Given the description of an element on the screen output the (x, y) to click on. 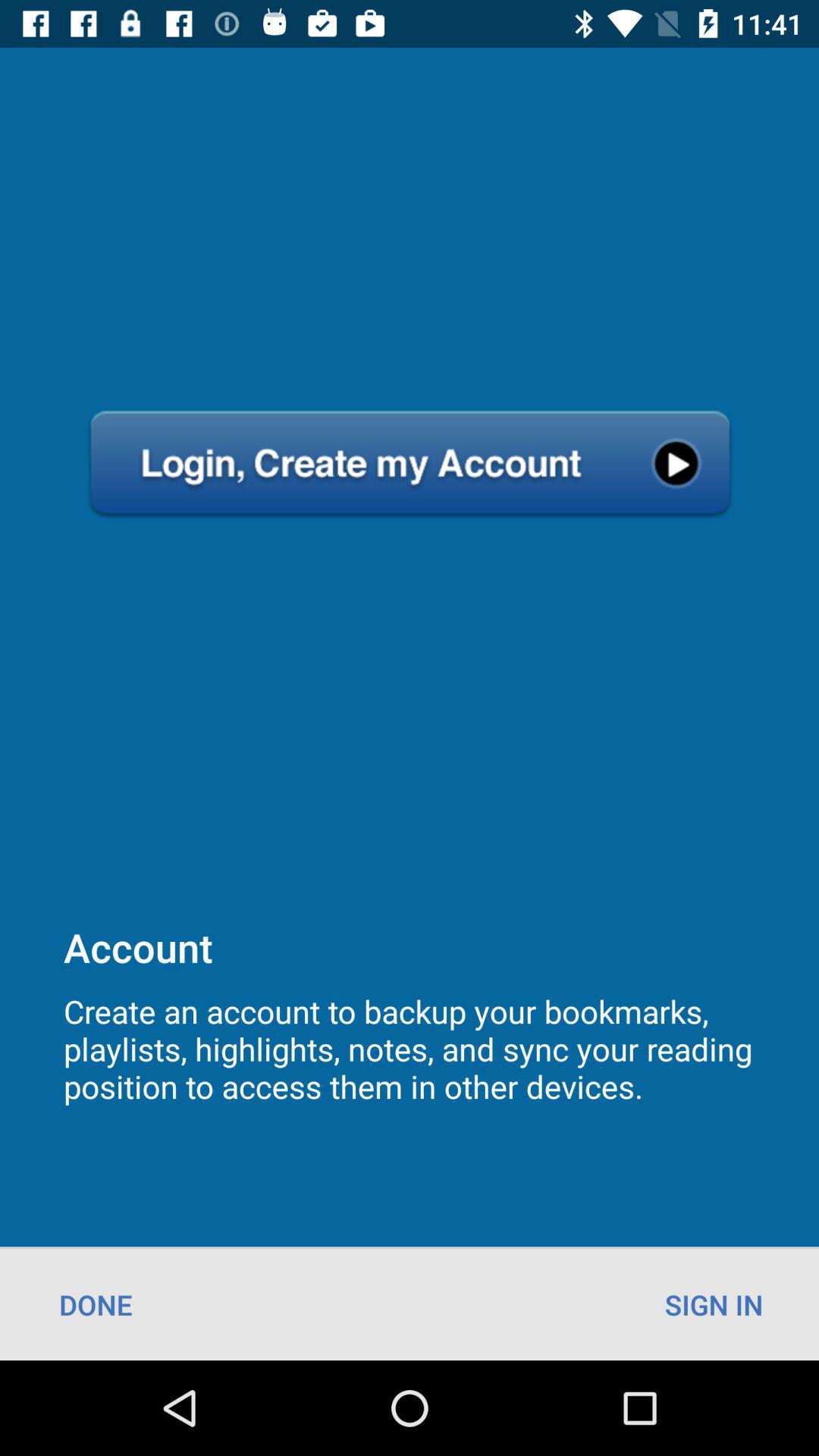
turn on icon to the right of the done (713, 1304)
